Given the description of an element on the screen output the (x, y) to click on. 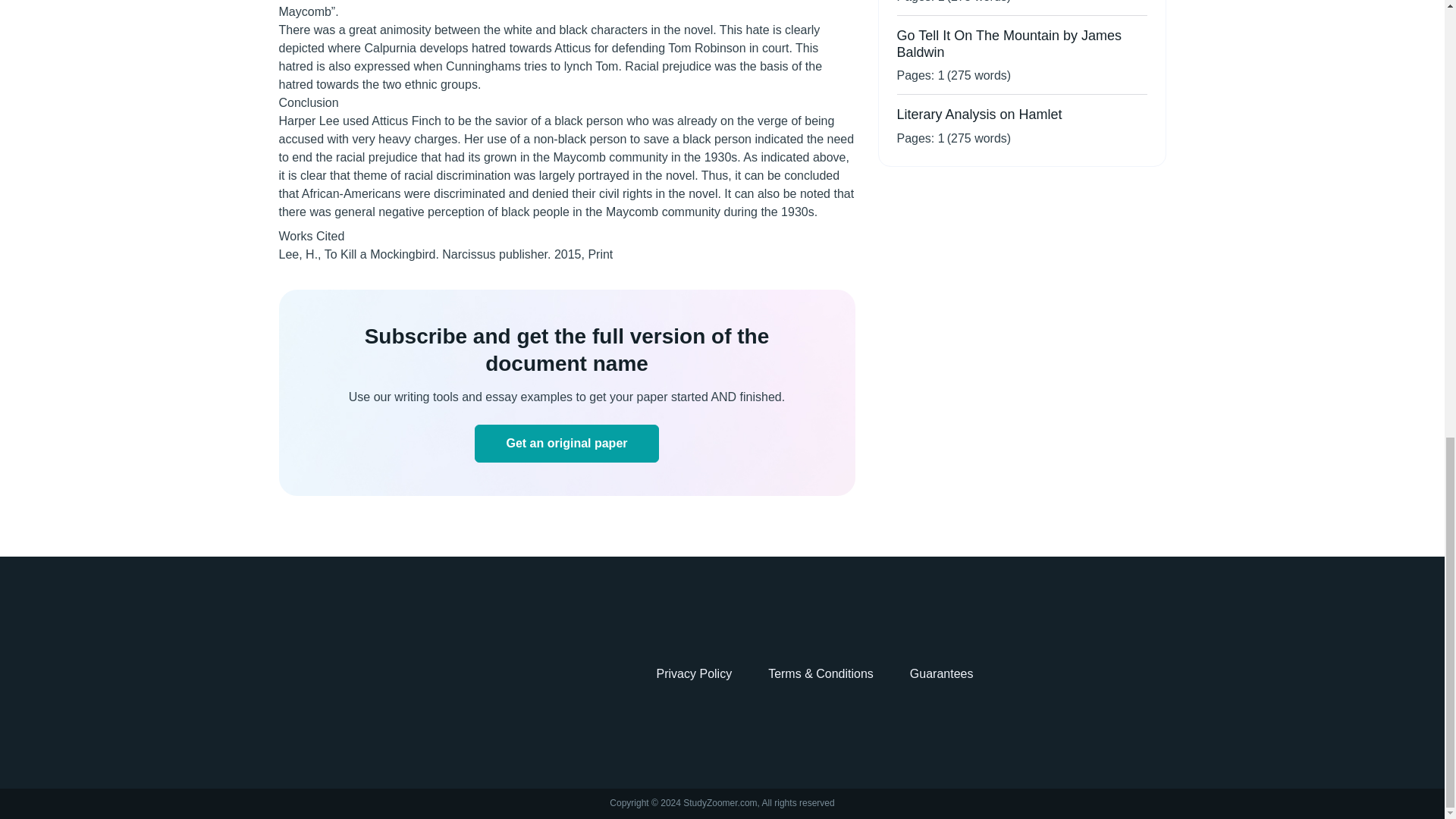
Guarantees (942, 674)
Subscribe (566, 443)
Go Tell It On The Mountain by James Baldwin (1008, 43)
Study Zoomer (333, 674)
Literary Analysis on Hamlet (978, 114)
Privacy Policy (694, 674)
Get an original paper (566, 443)
